Given the description of an element on the screen output the (x, y) to click on. 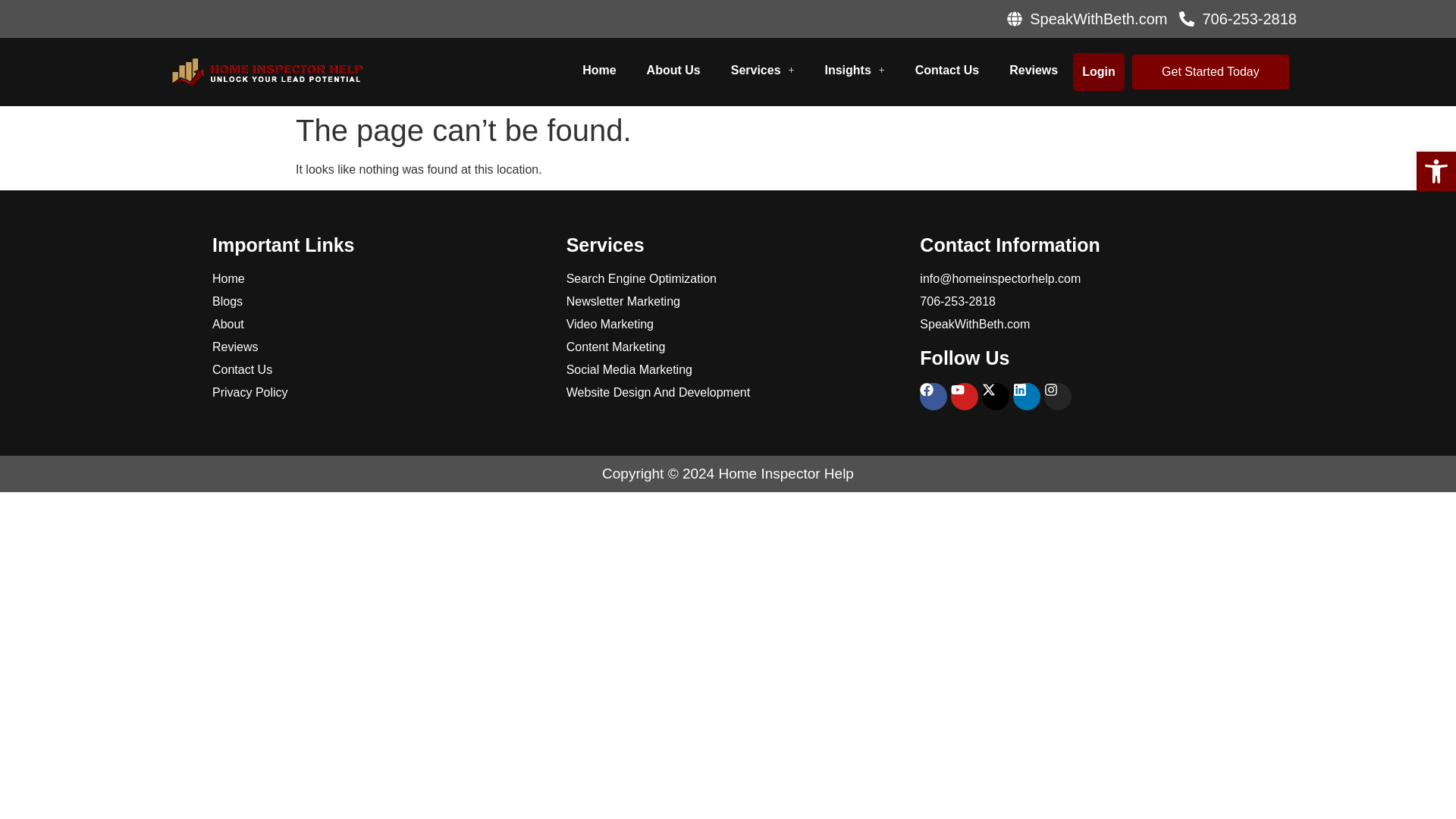
About (373, 324)
Contact Us (373, 370)
Reviews (373, 347)
706-253-2818 (1238, 18)
About Us (673, 70)
Get Started Today (1210, 71)
Home (373, 279)
Login (1098, 71)
Insights (854, 70)
Services (762, 70)
